Given the description of an element on the screen output the (x, y) to click on. 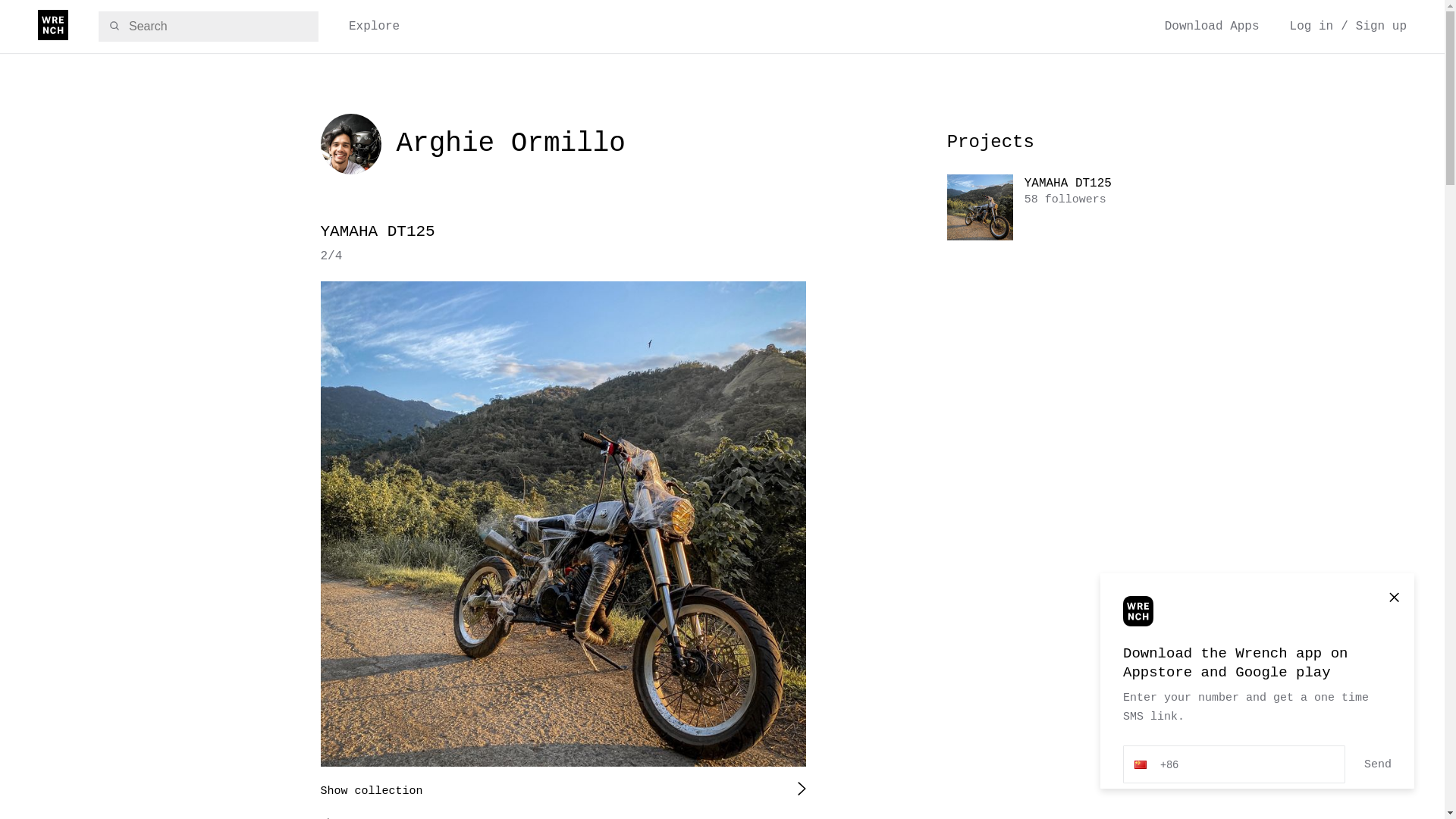
YAMAHA DT125 Element type: text (562, 235)
China: + 86 Element type: hover (1137, 764)
YAMAHA DT125
58 followers Element type: text (1035, 207)
Show collection Element type: text (371, 796)
Explore Element type: text (373, 26)
Download Apps Element type: text (1211, 26)
Log in Element type: text (1311, 26)
Send Element type: text (1377, 764)
Sign up Element type: text (1380, 26)
